Given the description of an element on the screen output the (x, y) to click on. 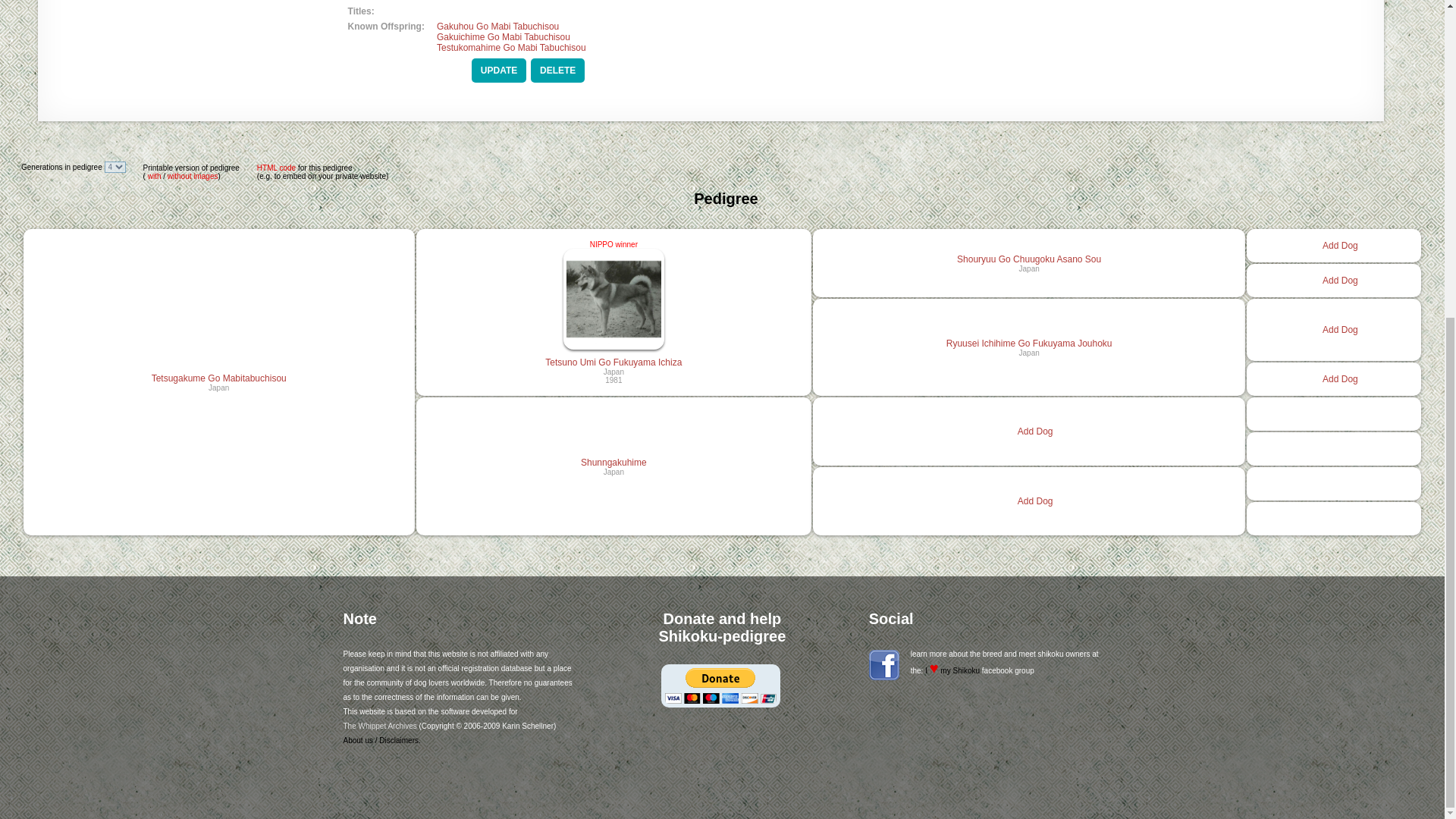
Testukomahime Go Mabi Tabuchisou (511, 47)
HTML code (276, 167)
with (153, 175)
Update (498, 70)
Add Dog (1034, 430)
Shouryuu Go Chuugoku Asano Sou (1028, 258)
Gakuhou Go Mabi Tabuchisou (497, 26)
Shunngakuhime (613, 461)
Update (498, 70)
Add Dog (1340, 378)
without images (192, 175)
Add Dog (1340, 280)
Gakuichime Go Mabi Tabuchisou (503, 36)
The Whippet Archives (379, 725)
Tetsugakume Go Mabitabuchisou (218, 378)
